Given the description of an element on the screen output the (x, y) to click on. 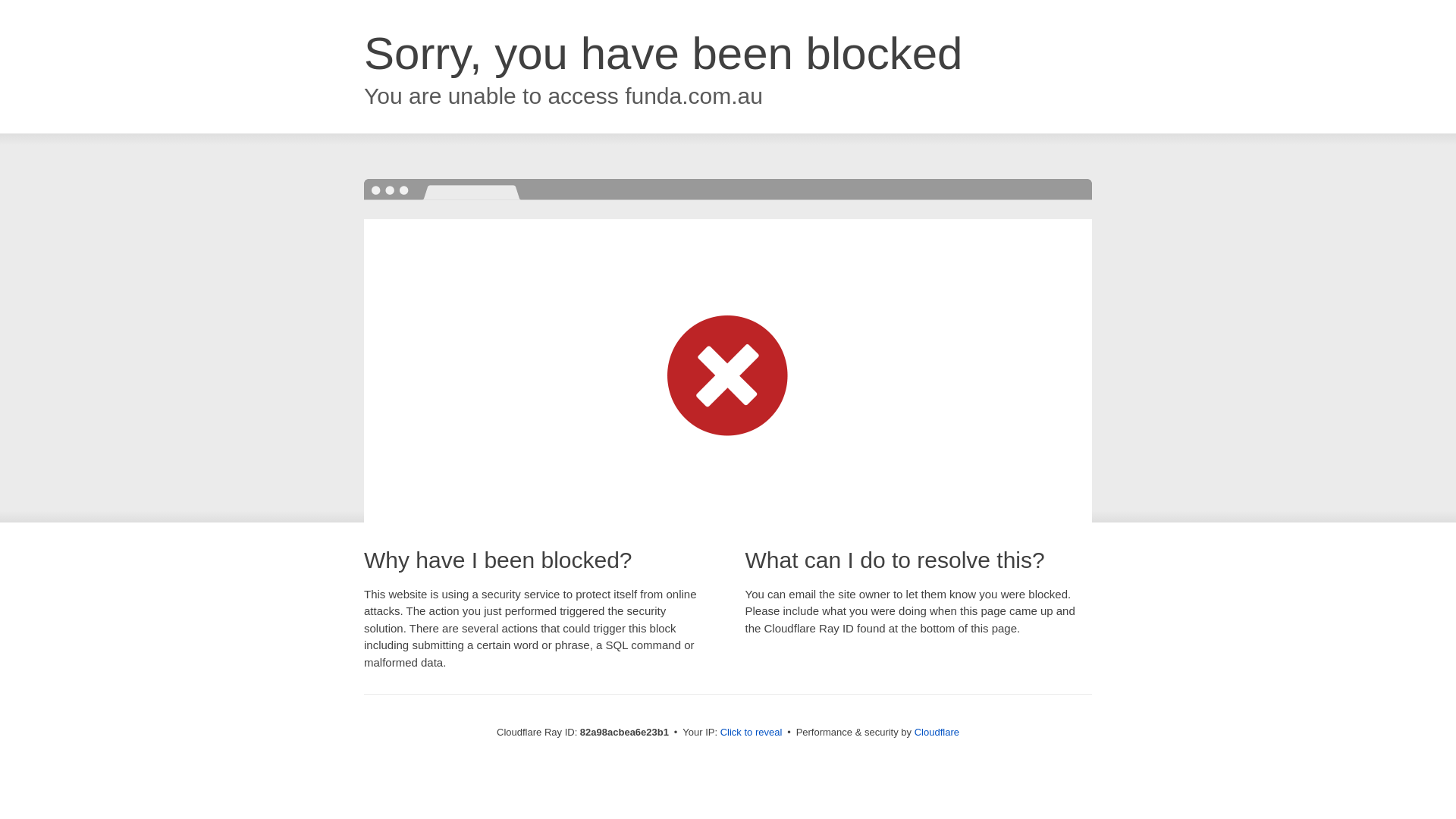
Click to reveal Element type: text (751, 732)
Cloudflare Element type: text (936, 731)
